Given the description of an element on the screen output the (x, y) to click on. 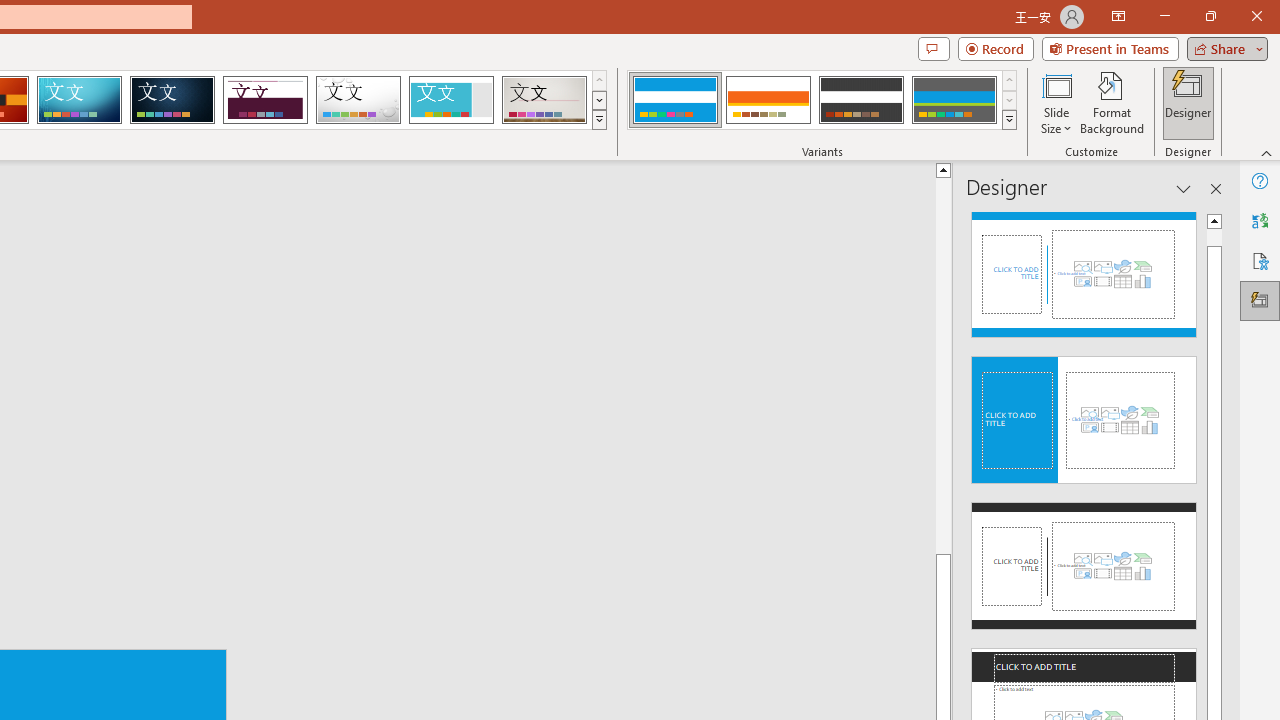
Themes (598, 120)
Banded Variant 2 (768, 100)
Circuit (79, 100)
Damask (171, 100)
Frame (450, 100)
